Given the description of an element on the screen output the (x, y) to click on. 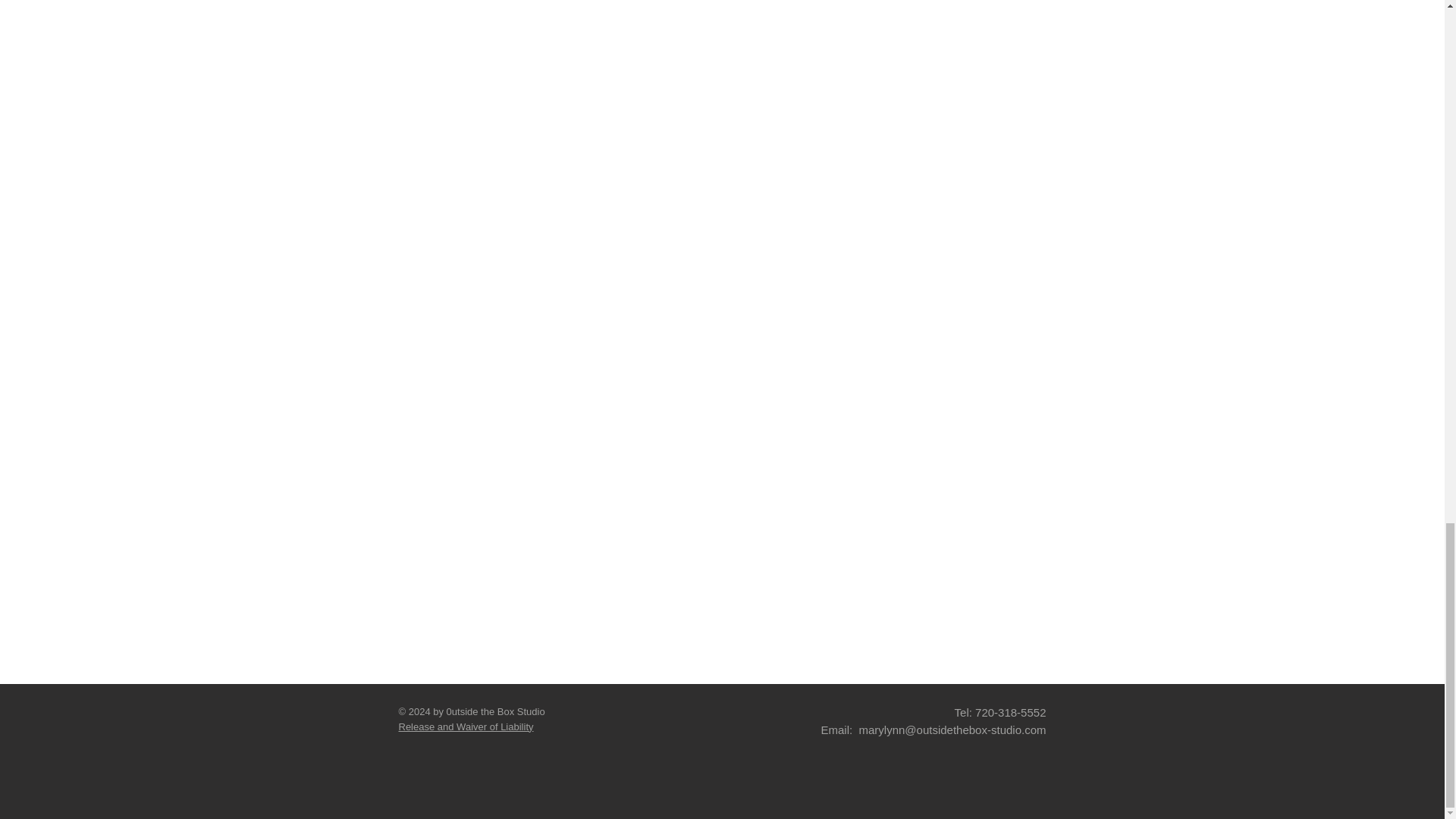
Release and Waiver of Liability (466, 726)
